Given the description of an element on the screen output the (x, y) to click on. 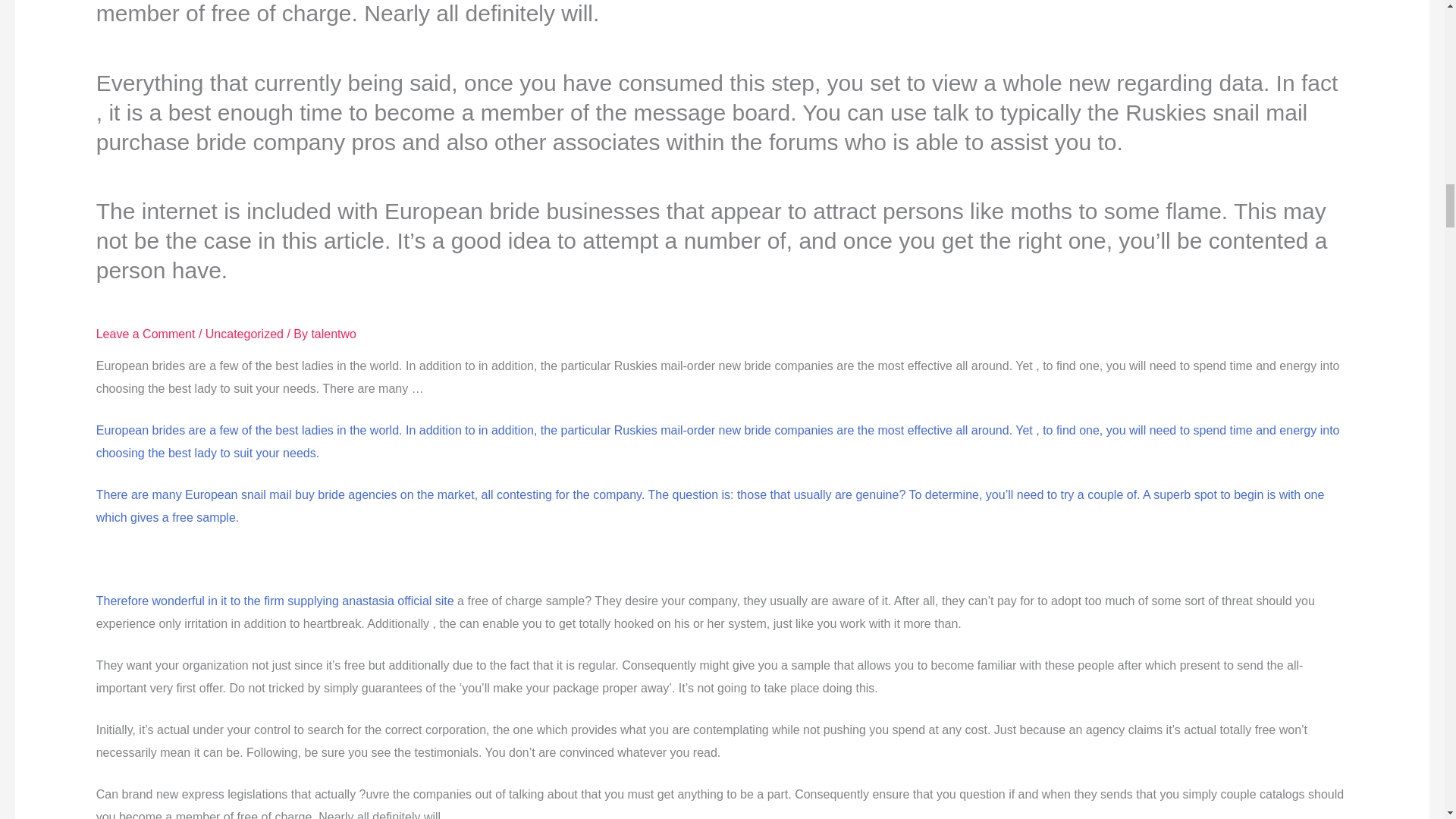
talentwo (333, 333)
Uncategorized (244, 333)
View all posts by talentwo (333, 333)
Therefore wonderful in it to the firm supplying (219, 600)
Leave a Comment (145, 333)
anastasia official site (397, 600)
